Given the description of an element on the screen output the (x, y) to click on. 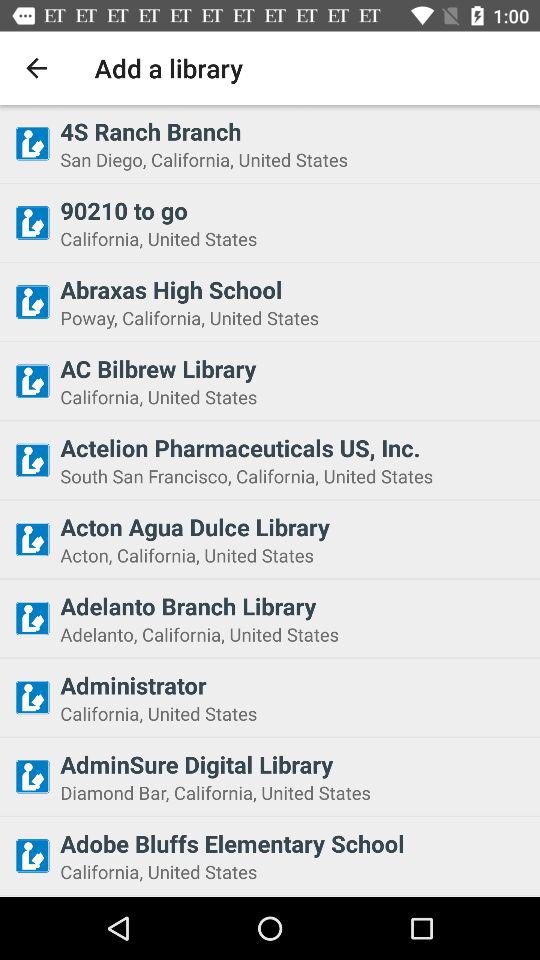
choose the adelanto branch library item (294, 606)
